Given the description of an element on the screen output the (x, y) to click on. 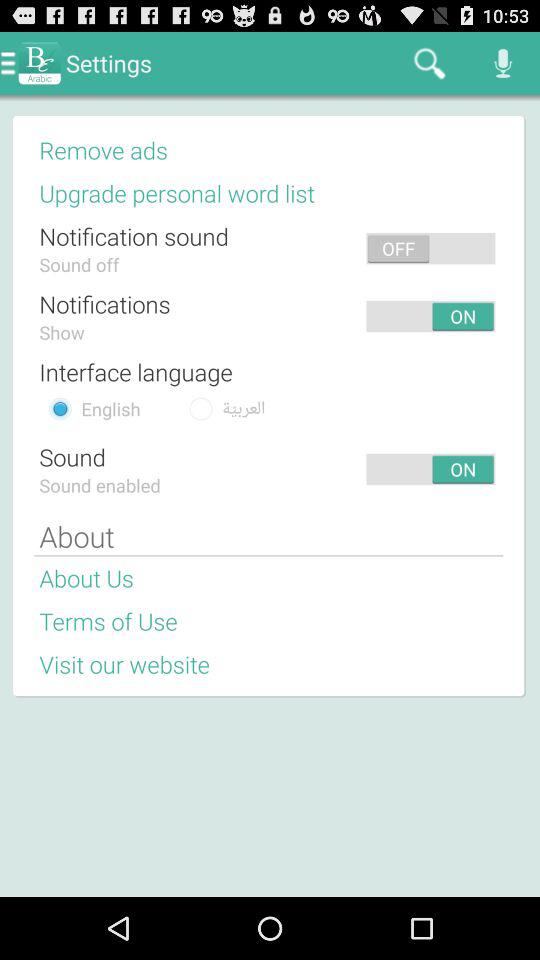
english interface (60, 408)
